Given the description of an element on the screen output the (x, y) to click on. 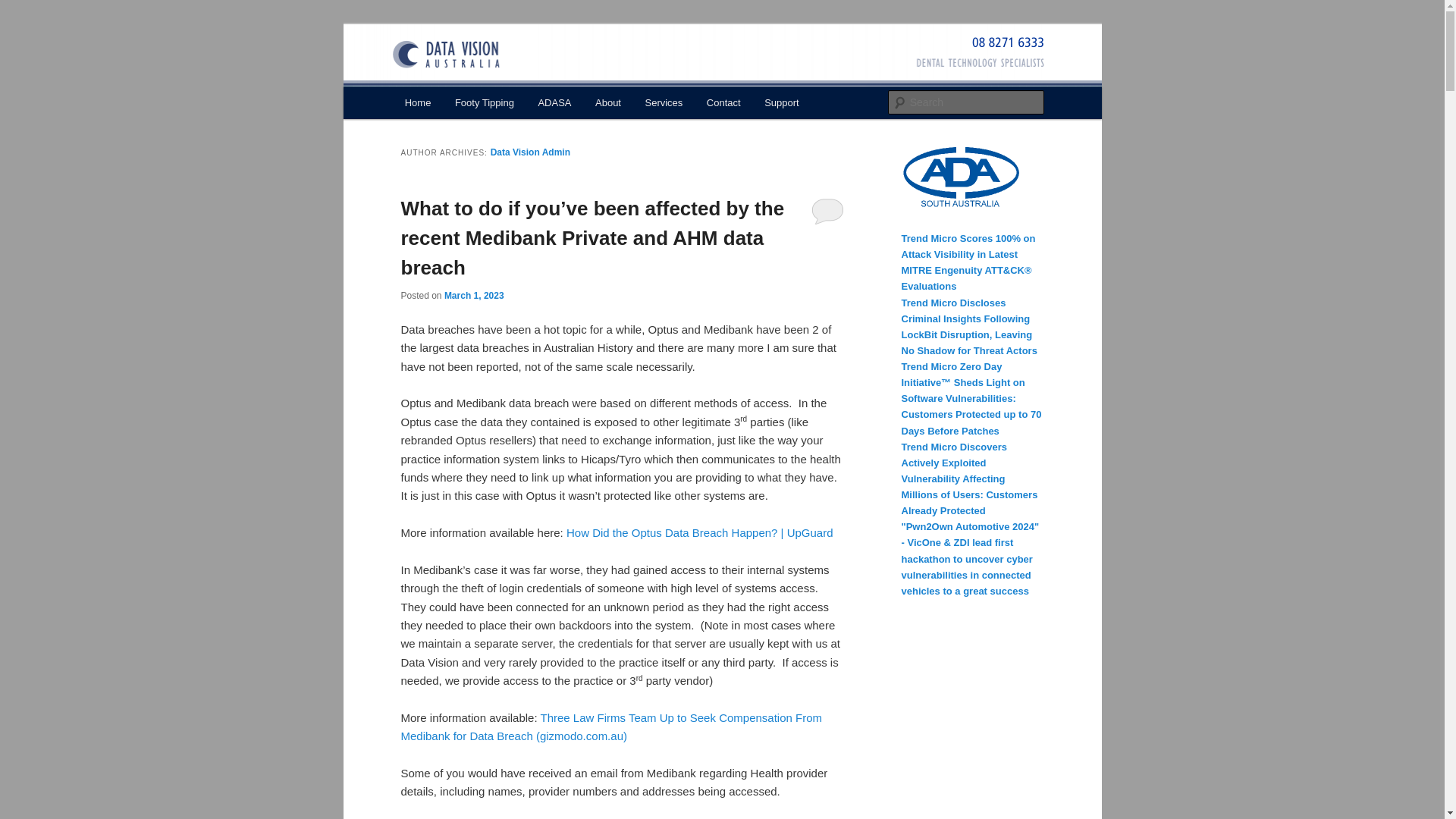
ADASA (554, 102)
March 1, 2023 (473, 294)
Services (663, 102)
Support (781, 102)
Footy Tipping (483, 102)
Data Vision Admin (530, 152)
Data Vision Australia (513, 78)
2:24 PM (473, 294)
Home (417, 102)
Search (24, 8)
Contact (723, 102)
Data Vision Admin (530, 152)
About (607, 102)
